Given the description of an element on the screen output the (x, y) to click on. 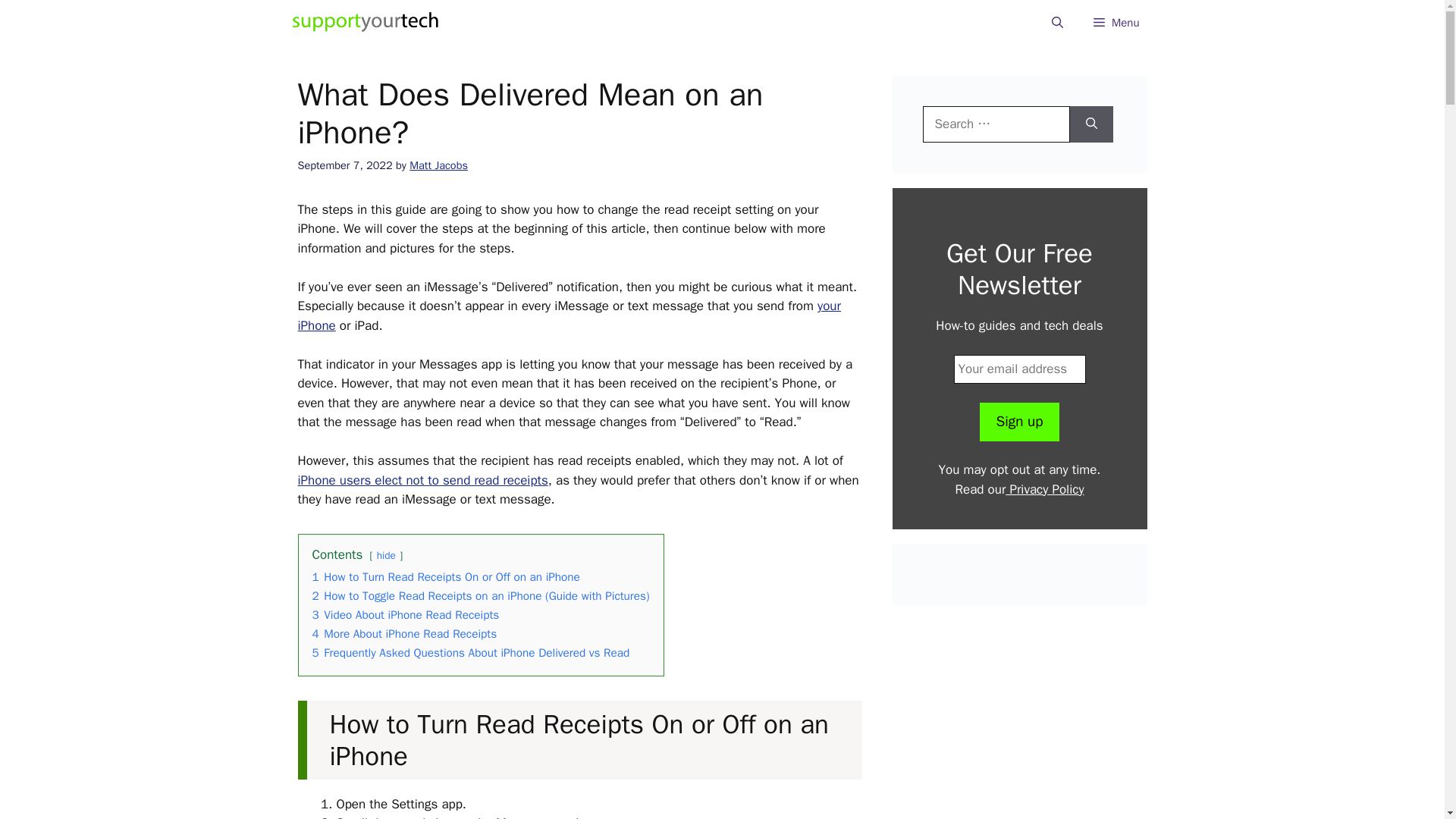
3 Video About iPhone Read Receipts (406, 614)
Support Your Tech (365, 22)
Sign up (1018, 421)
Matt Jacobs (438, 164)
hide (386, 554)
your iPhone (568, 315)
iPhone users elect not to send read receipts (422, 480)
5 Frequently Asked Questions About iPhone Delivered vs Read (471, 652)
Menu (1116, 22)
4 More About iPhone Read Receipts (405, 633)
